Given the description of an element on the screen output the (x, y) to click on. 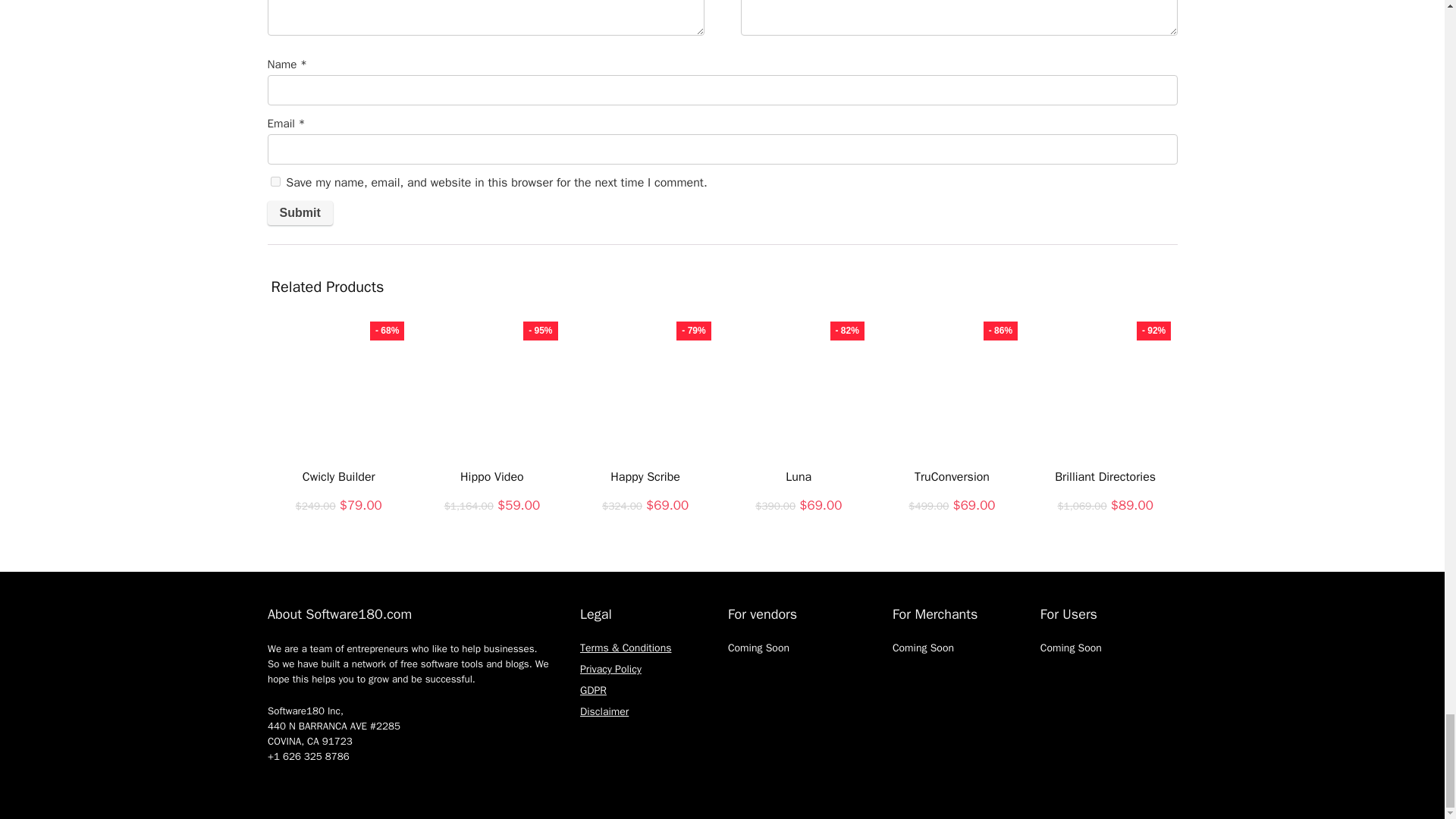
yes (274, 181)
Hippo Video (492, 476)
Luna (798, 476)
TruConversion (952, 476)
Happy Scribe (644, 476)
Cwicly Builder (338, 476)
Submit (298, 212)
Submit (298, 212)
